Given the description of an element on the screen output the (x, y) to click on. 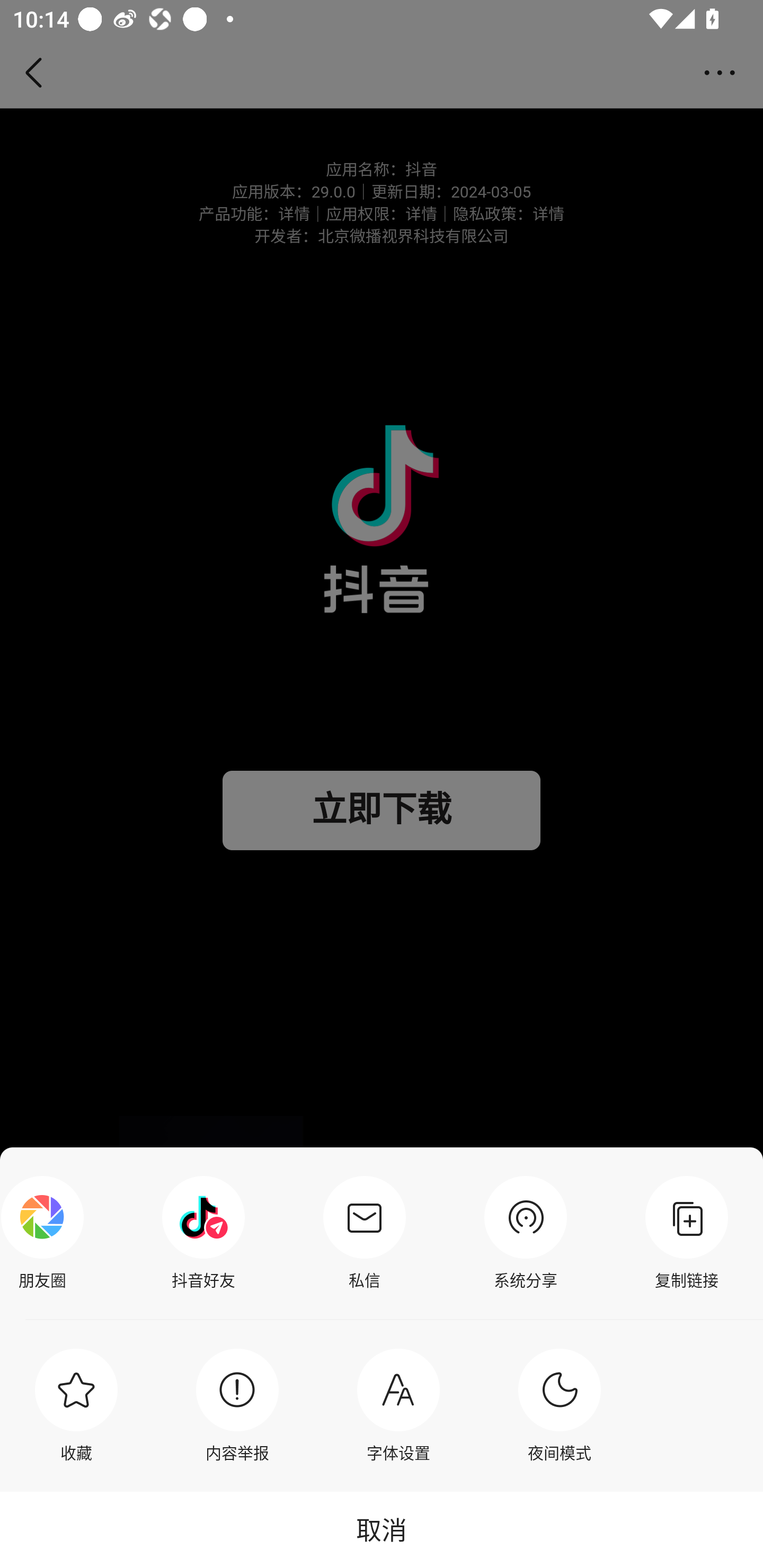
朋友圈 (46, 1232)
抖音好友 (203, 1232)
私信 (364, 1232)
系统分享 (525, 1232)
复制链接 (686, 1232)
收藏 (76, 1405)
内容举报 (237, 1405)
字体设置 (398, 1405)
夜间模式 (559, 1405)
取消 (381, 1529)
